Given the description of an element on the screen output the (x, y) to click on. 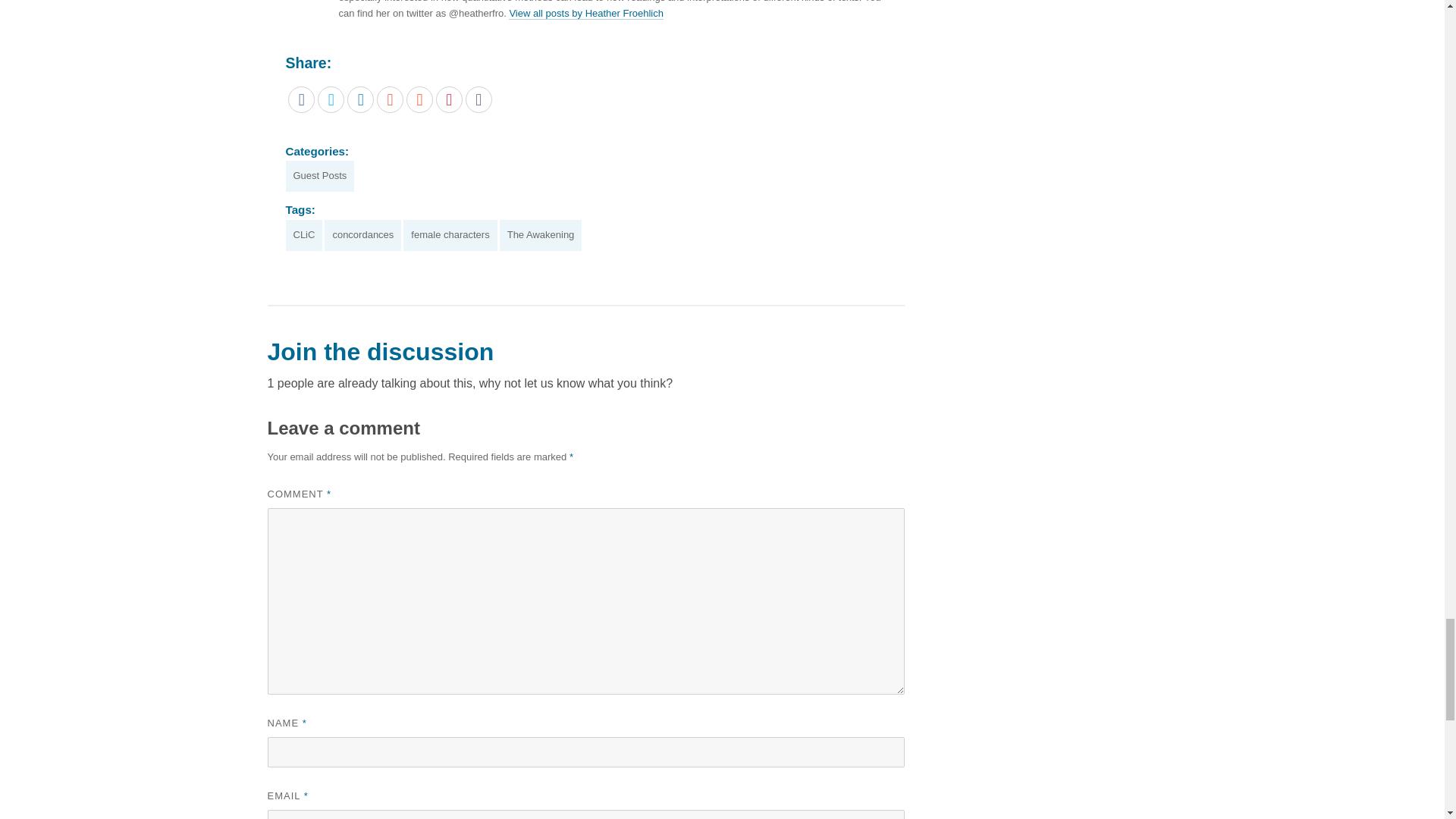
Share on Twitter (330, 99)
CLiC (303, 235)
female characters (449, 235)
Share on Weibo (449, 99)
concordances (362, 235)
Share on LinkedIn (360, 99)
Guest Posts (319, 175)
Share on Facebook (301, 99)
The Awakening (540, 235)
Share by email (478, 99)
